Given the description of an element on the screen output the (x, y) to click on. 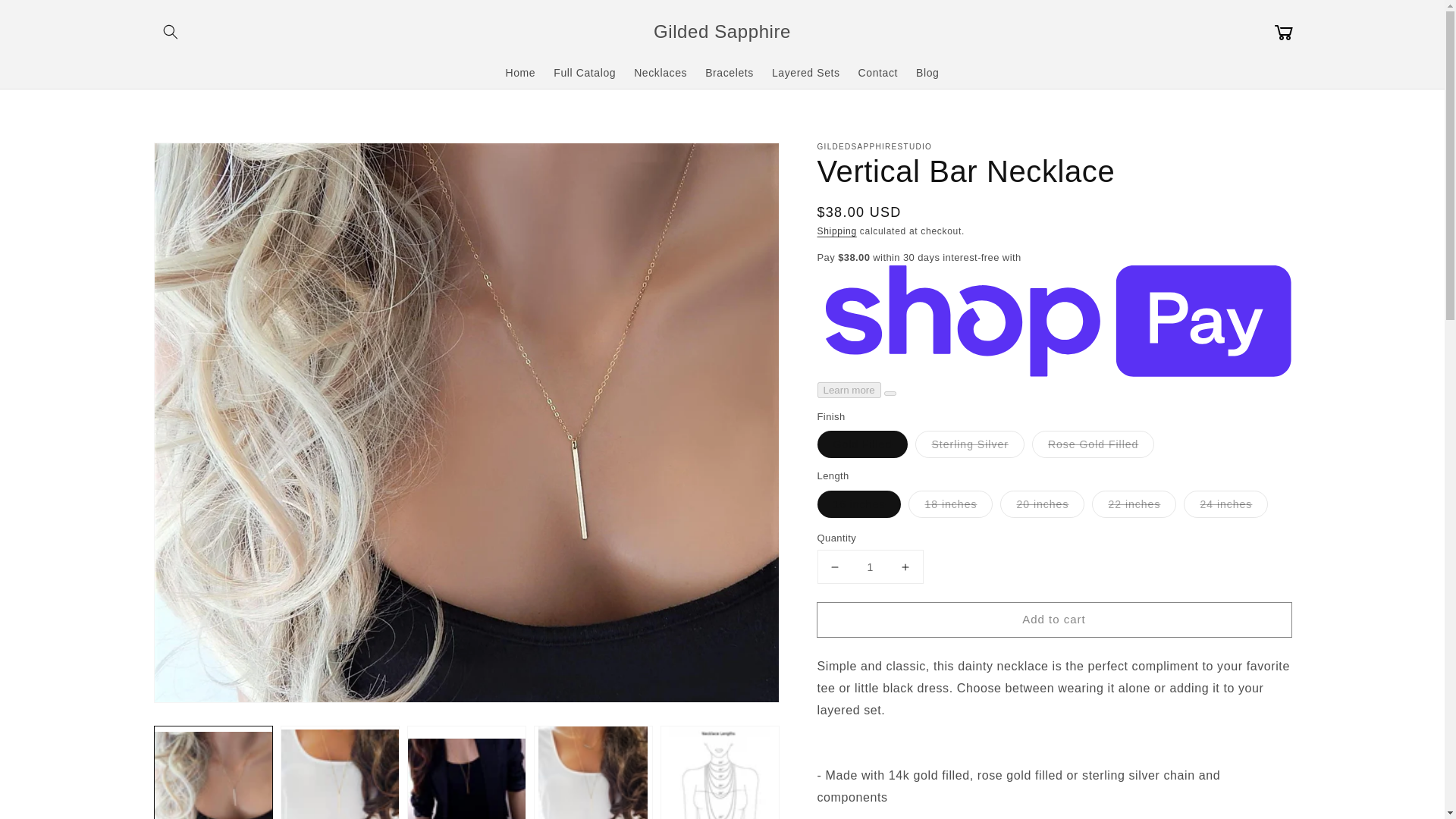
Bracelets (728, 71)
Home (520, 71)
Contact (877, 71)
Skip to content (45, 16)
Necklaces (659, 71)
Blog (927, 71)
Cart (1283, 31)
